Given the description of an element on the screen output the (x, y) to click on. 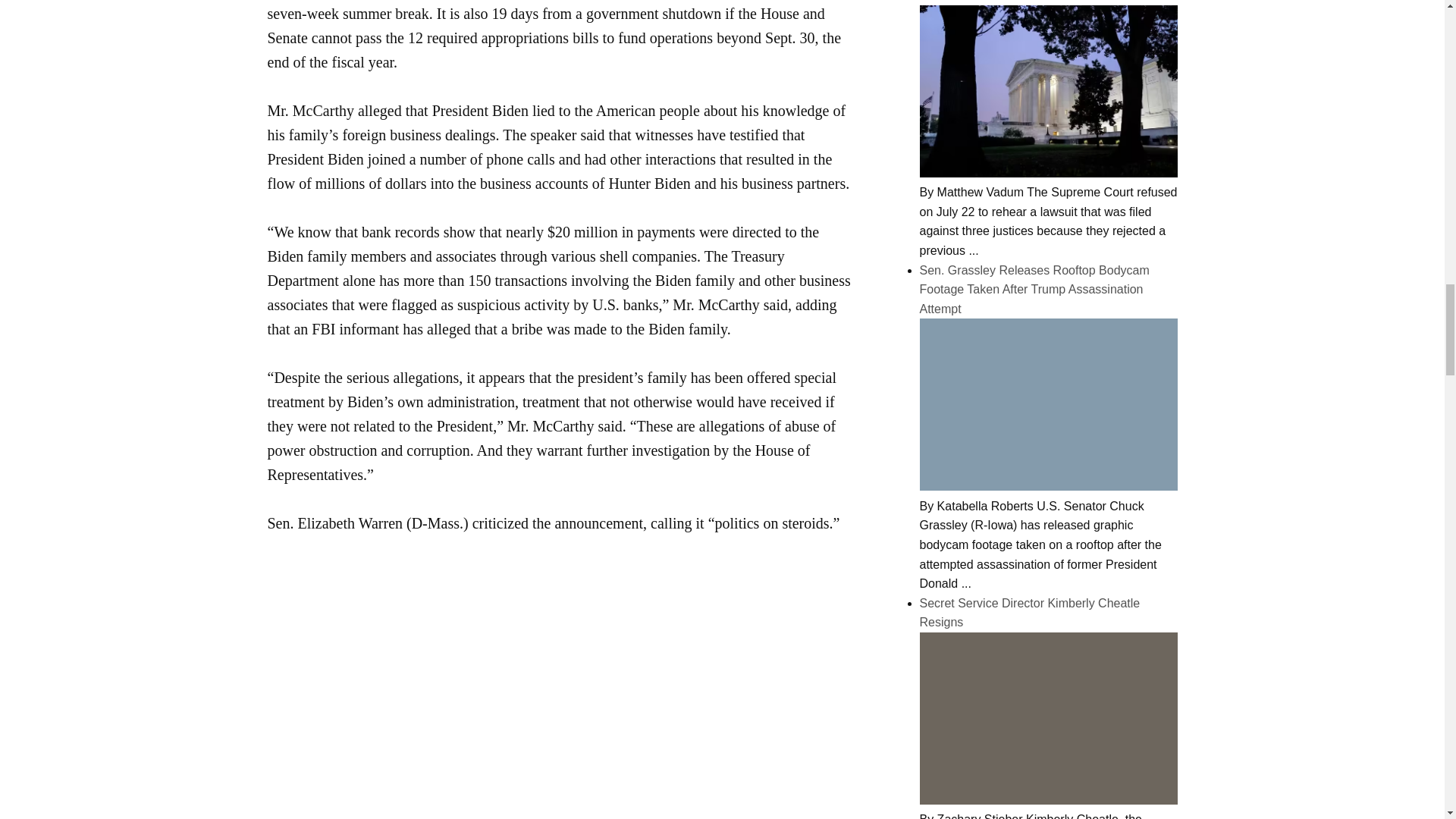
Secret Service Director Kimberly Cheatle Resigns (1047, 799)
